Given the description of an element on the screen output the (x, y) to click on. 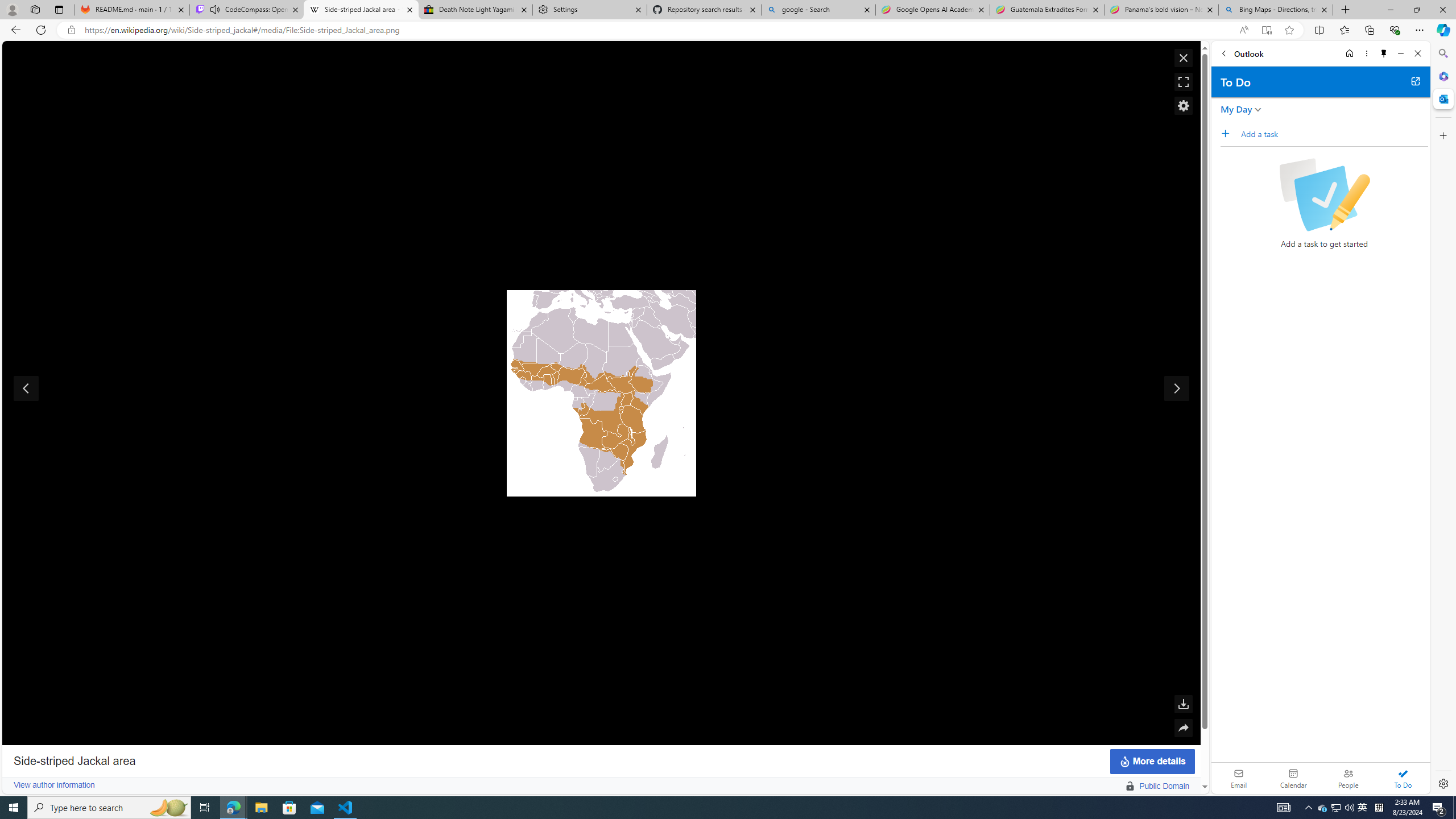
Enable or disable Media Viewer (1183, 105)
Add a task (1334, 133)
People (1347, 777)
Share or embed this file (1183, 728)
Google Opens AI Academy for Startups - Nearshore Americas (932, 9)
